Given the description of an element on the screen output the (x, y) to click on. 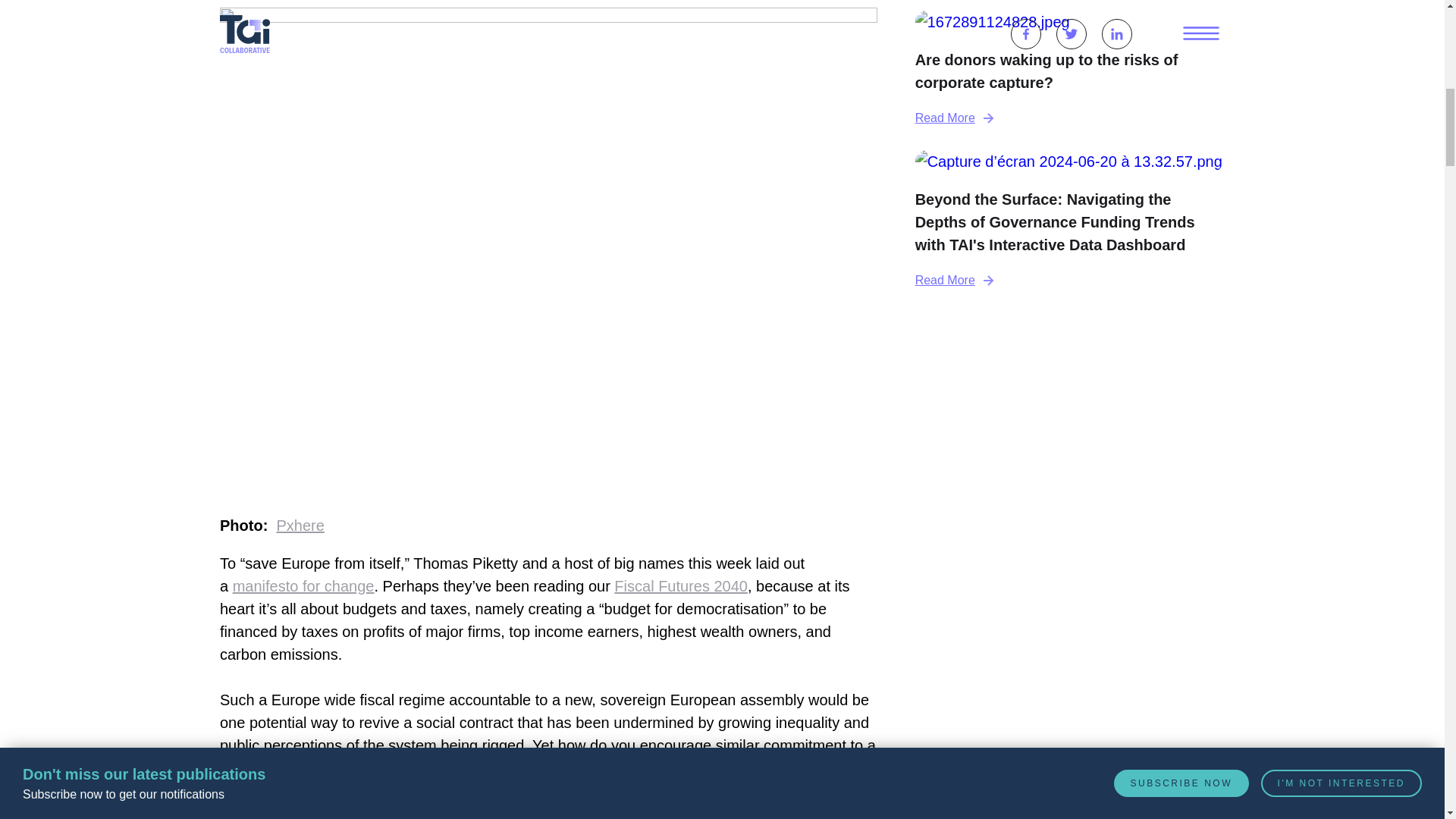
boost personal income tax collection (542, 779)
Fiscal Futures 2040 (681, 586)
manifesto for change (303, 586)
Pxhere (299, 524)
